Given the description of an element on the screen output the (x, y) to click on. 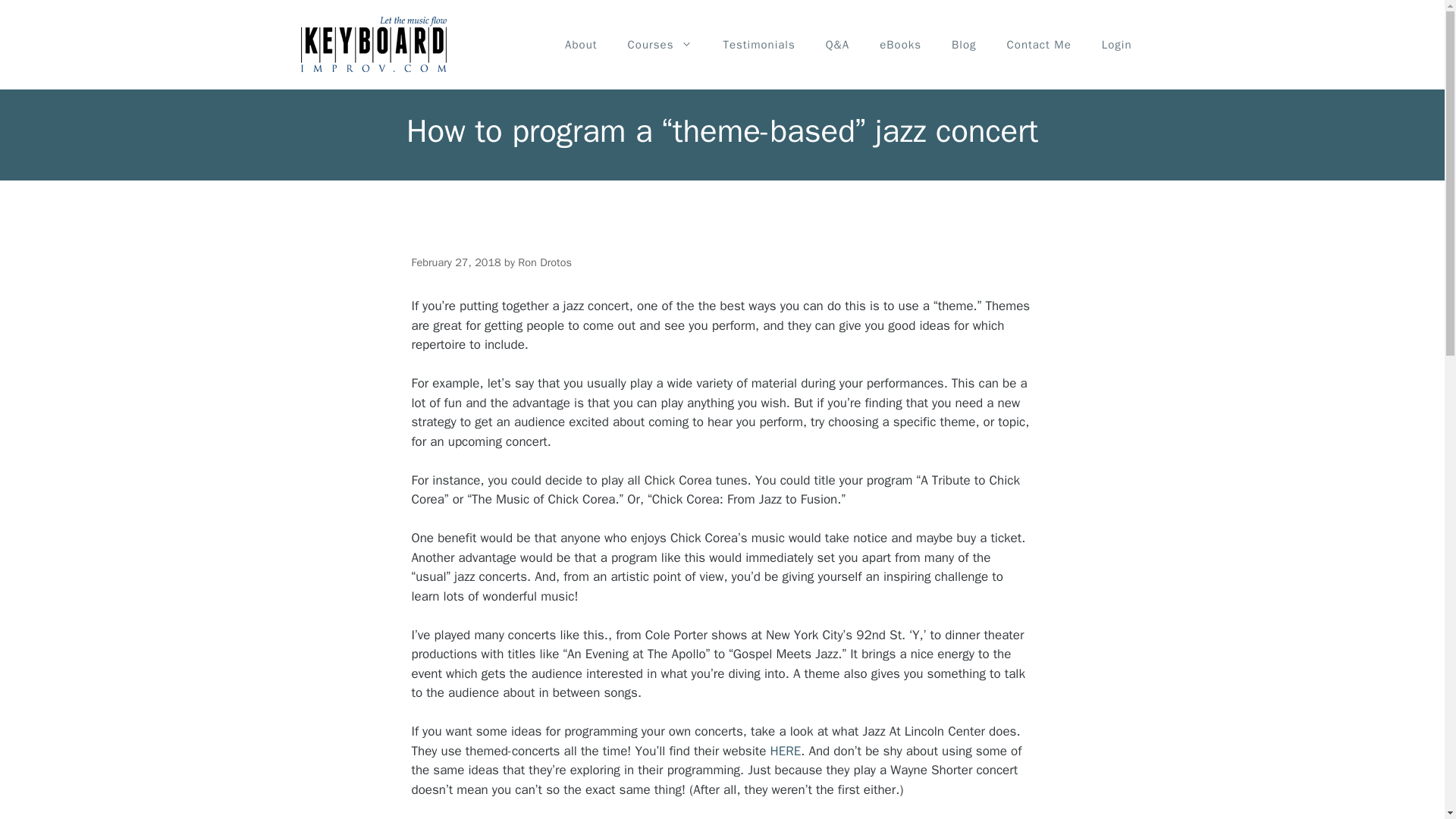
View all posts by Ron Drotos (545, 262)
Ron Drotos (545, 262)
Courses (659, 44)
Login (1116, 44)
eBooks (900, 44)
Blog (963, 44)
About (580, 44)
HERE (785, 750)
Contact Me (1038, 44)
Testimonials (758, 44)
